Given the description of an element on the screen output the (x, y) to click on. 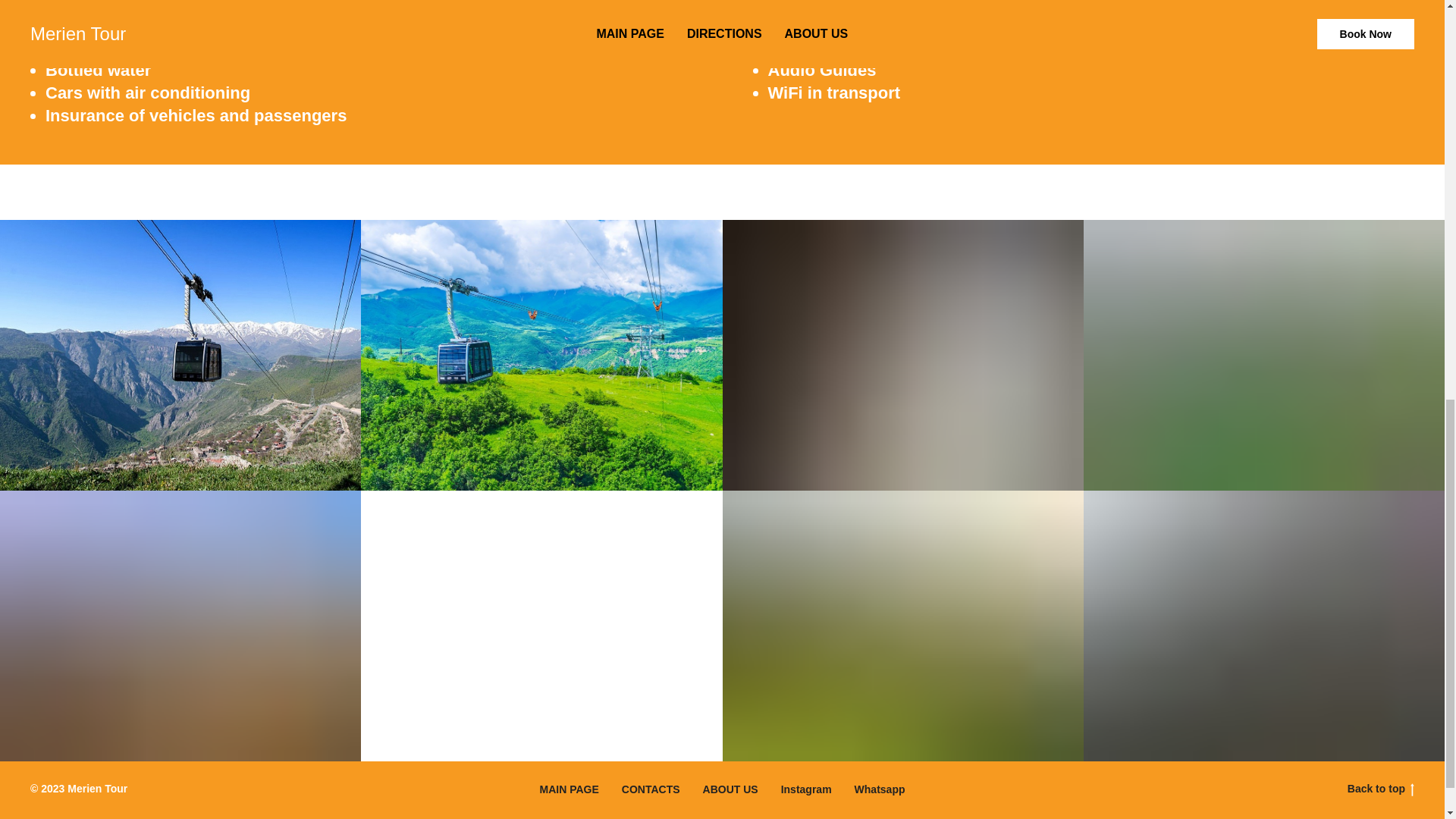
Whatsapp (879, 788)
Back to top (1380, 789)
MAIN PAGE (569, 788)
Instagram (805, 788)
Back to top (1380, 789)
CONTACTS (650, 788)
Back to top (1318, 789)
ABOUT US (730, 788)
